Given the description of an element on the screen output the (x, y) to click on. 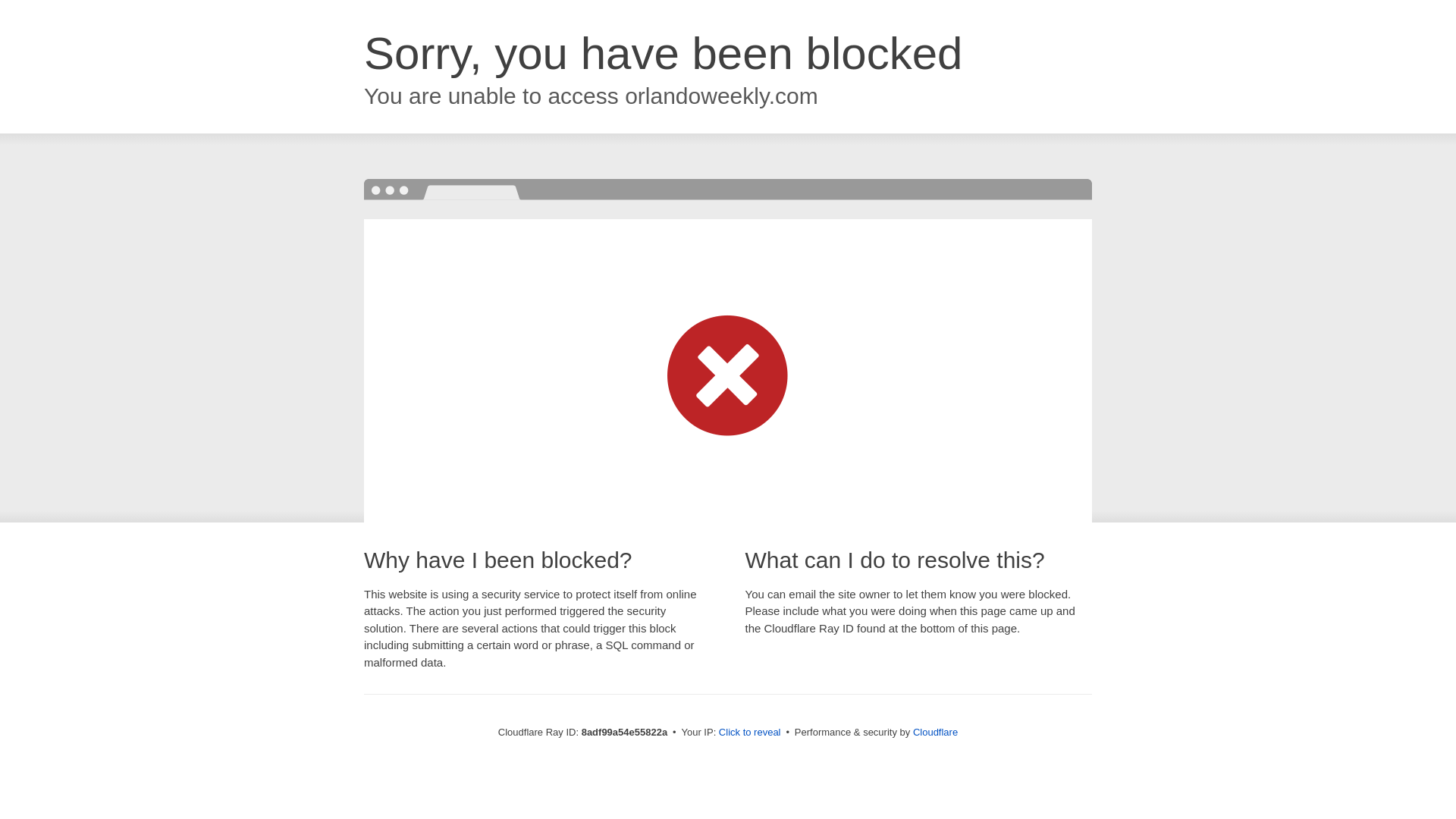
Click to reveal (749, 732)
Cloudflare (935, 731)
